Given the description of an element on the screen output the (x, y) to click on. 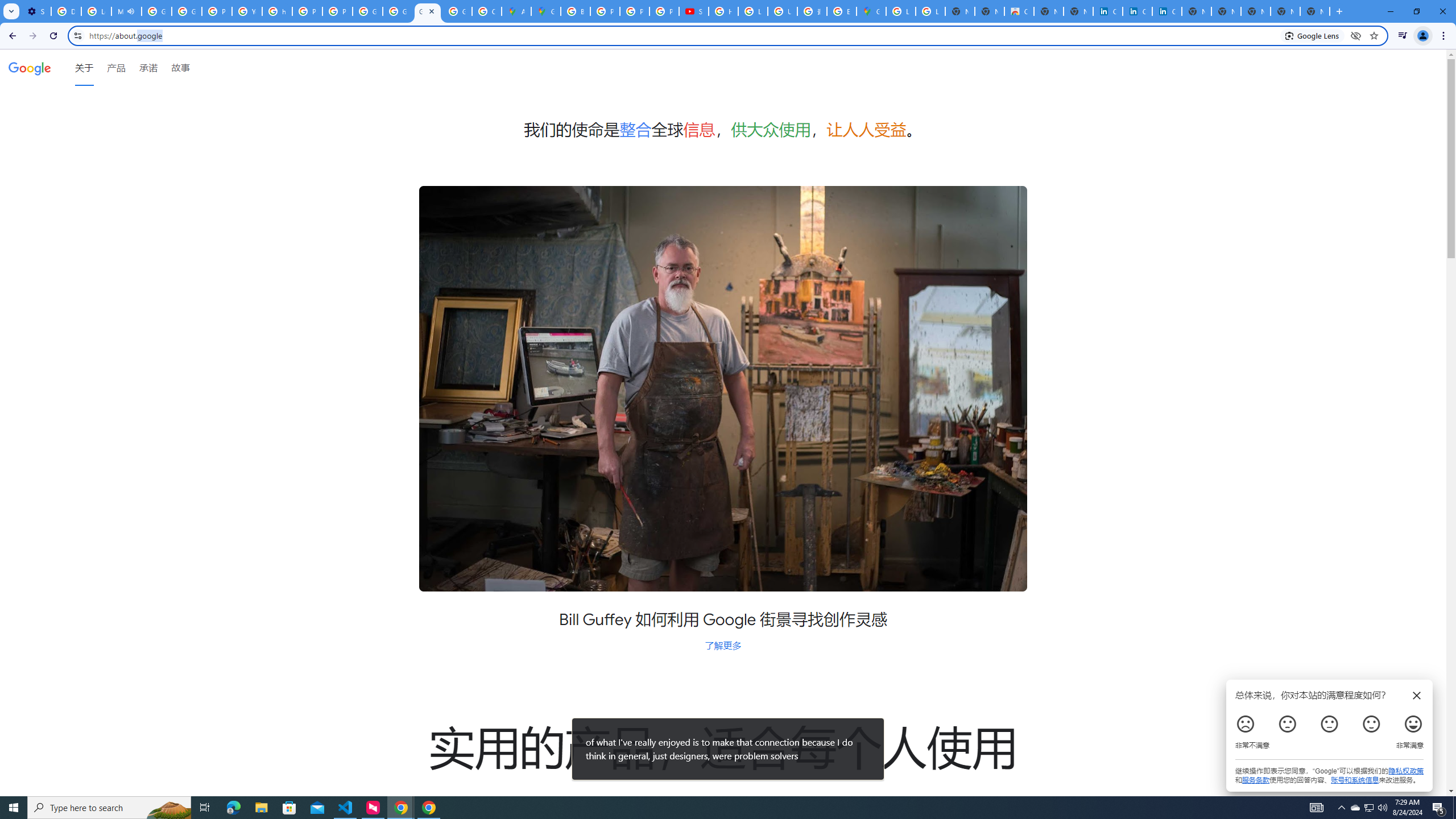
Privacy Help Center - Policies Help (634, 11)
https://scholar.google.com/ (277, 11)
Learn how to find your photos - Google Photos Help (95, 11)
Privacy Help Center - Policies Help (216, 11)
YouTube (247, 11)
Explore new street-level details - Google Maps Help (841, 11)
